Given the description of an element on the screen output the (x, y) to click on. 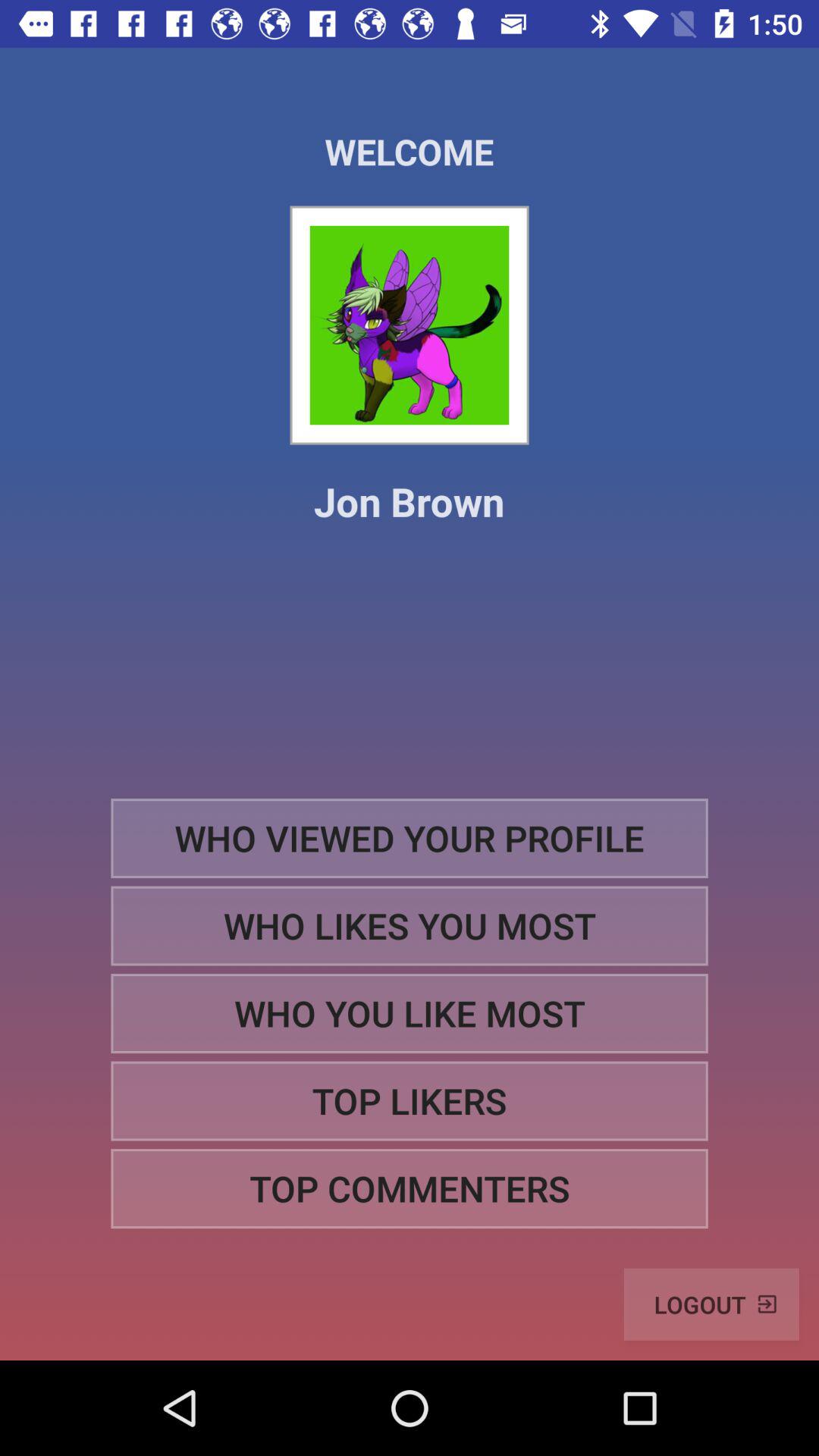
tap top likers (409, 1100)
